Given the description of an element on the screen output the (x, y) to click on. 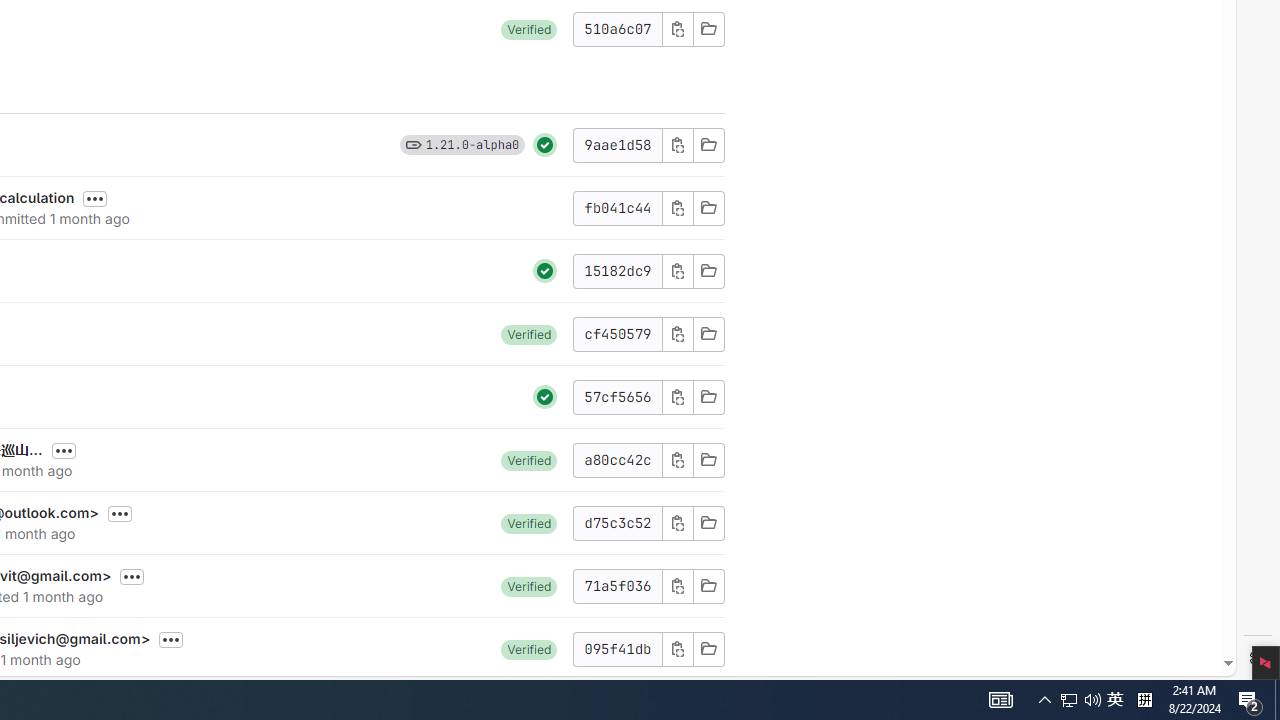
1.21.0-alpha0 (471, 144)
User Promoted Notification Area (1080, 699)
Show desktop (1277, 699)
Toggle commit description (171, 640)
Class: s16 (708, 648)
Notification Chevron (1044, 699)
